Given the description of an element on the screen output the (x, y) to click on. 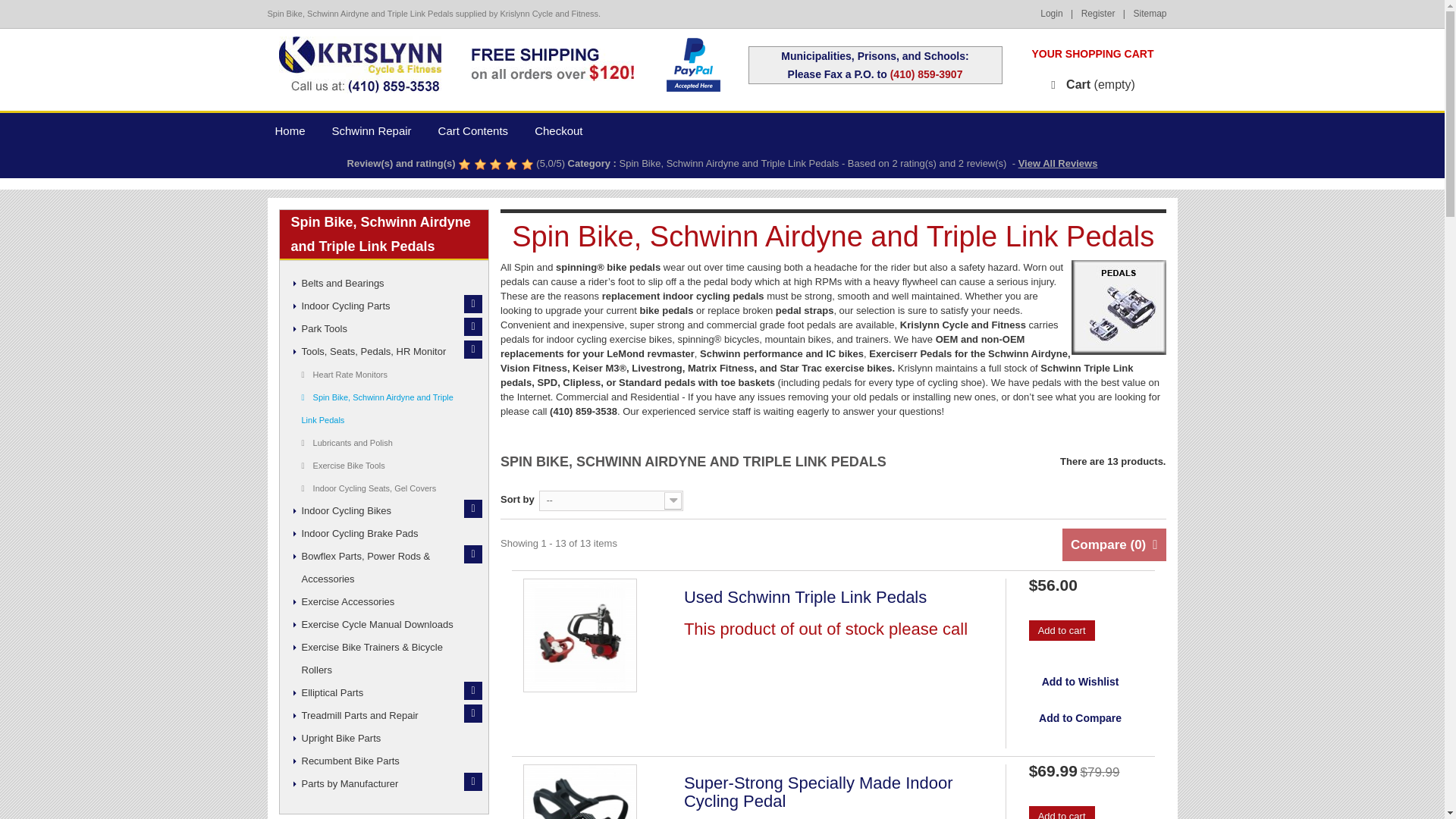
Cart Contents (478, 131)
Login (1059, 13)
FREE SHIPPING (552, 63)
Schwinn Repair (377, 131)
Belts and Bearings (386, 282)
Register (1106, 13)
Checkout (564, 131)
Checkout (564, 131)
Krislynn Cycle and Fitness (360, 64)
Log in to your customer account (1059, 13)
View All Reviews (1057, 163)
View my shopping cart (1089, 84)
 Register your customer account (1106, 13)
FREE SHIPPING (552, 64)
Home (294, 131)
